Given the description of an element on the screen output the (x, y) to click on. 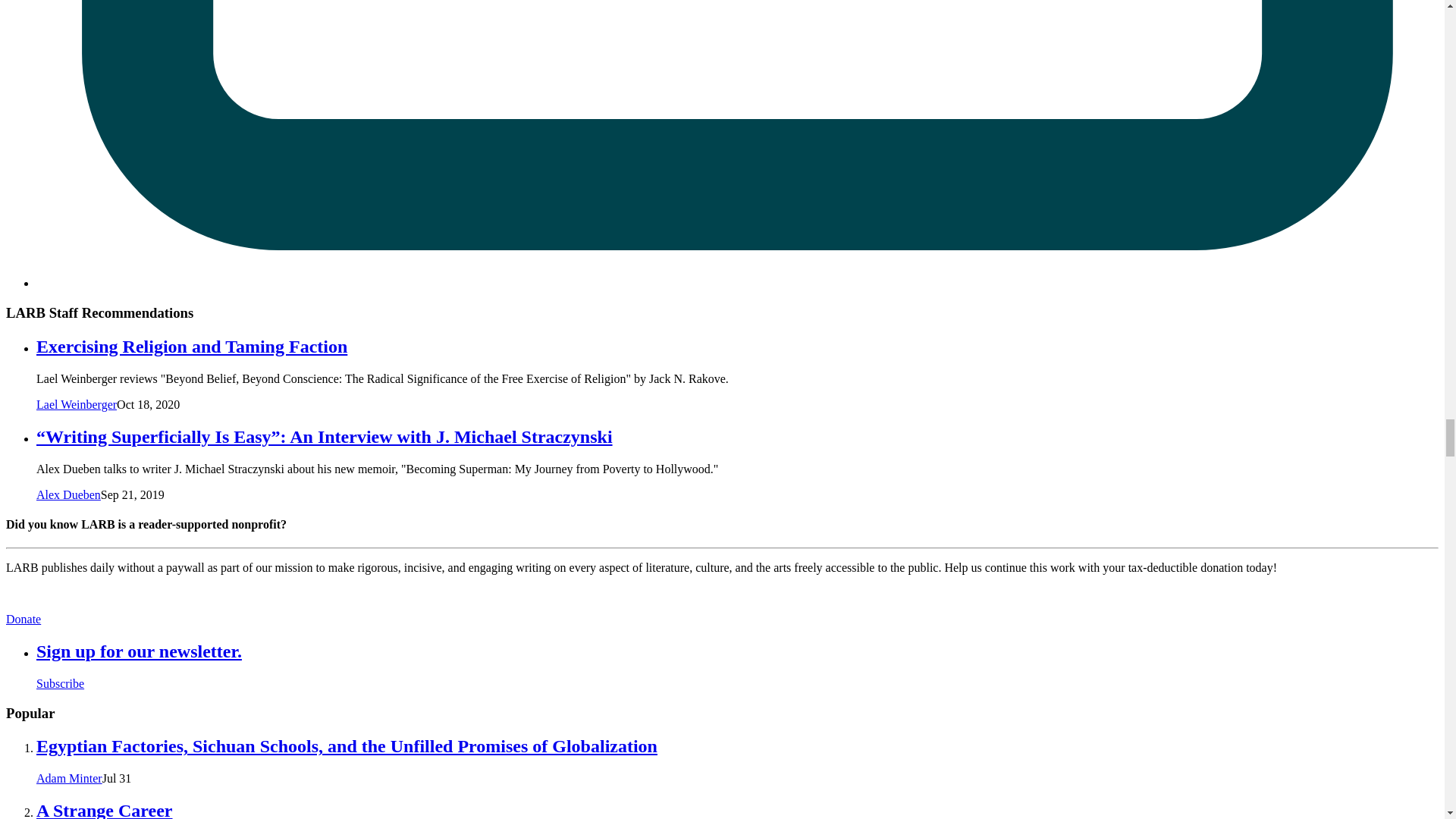
Exercising Religion and Taming Faction (191, 346)
Adam Minter (68, 778)
Alex Dueben (68, 494)
Lael Weinberger (76, 404)
Sign up for our newsletter. (138, 650)
